Given the description of an element on the screen output the (x, y) to click on. 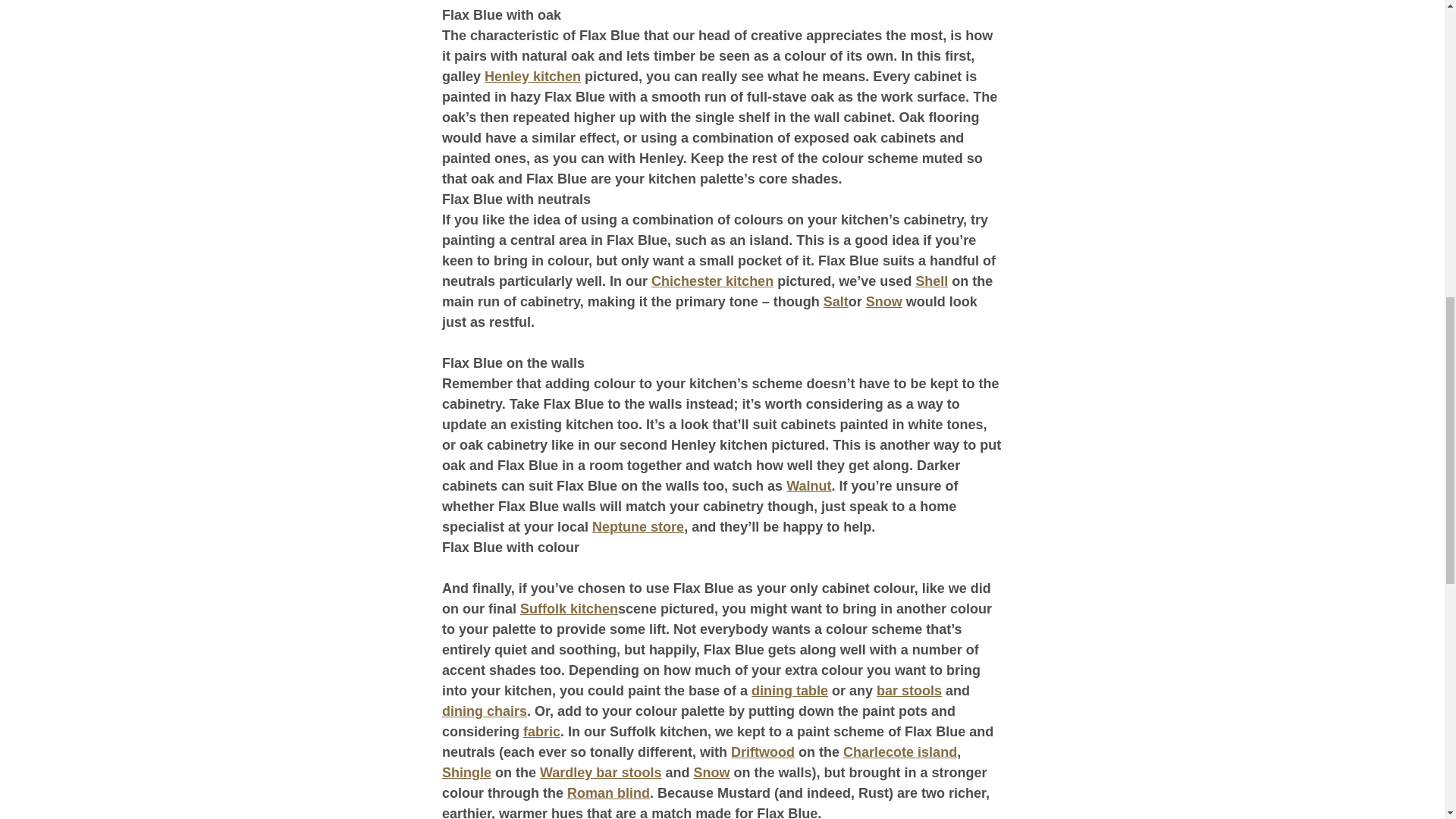
Roman blind (607, 792)
Chichester kitchen (711, 281)
fabric (541, 731)
Snow (711, 772)
dining table (789, 690)
Neptune store (638, 526)
dining chairs (483, 711)
Driftwood (762, 752)
Wardley bar stools (600, 772)
Walnut (808, 485)
Henley kitchen (532, 76)
Shingle (465, 772)
Charlecote island (899, 752)
Snow (882, 301)
Suffolk kitchen (568, 608)
